Given the description of an element on the screen output the (x, y) to click on. 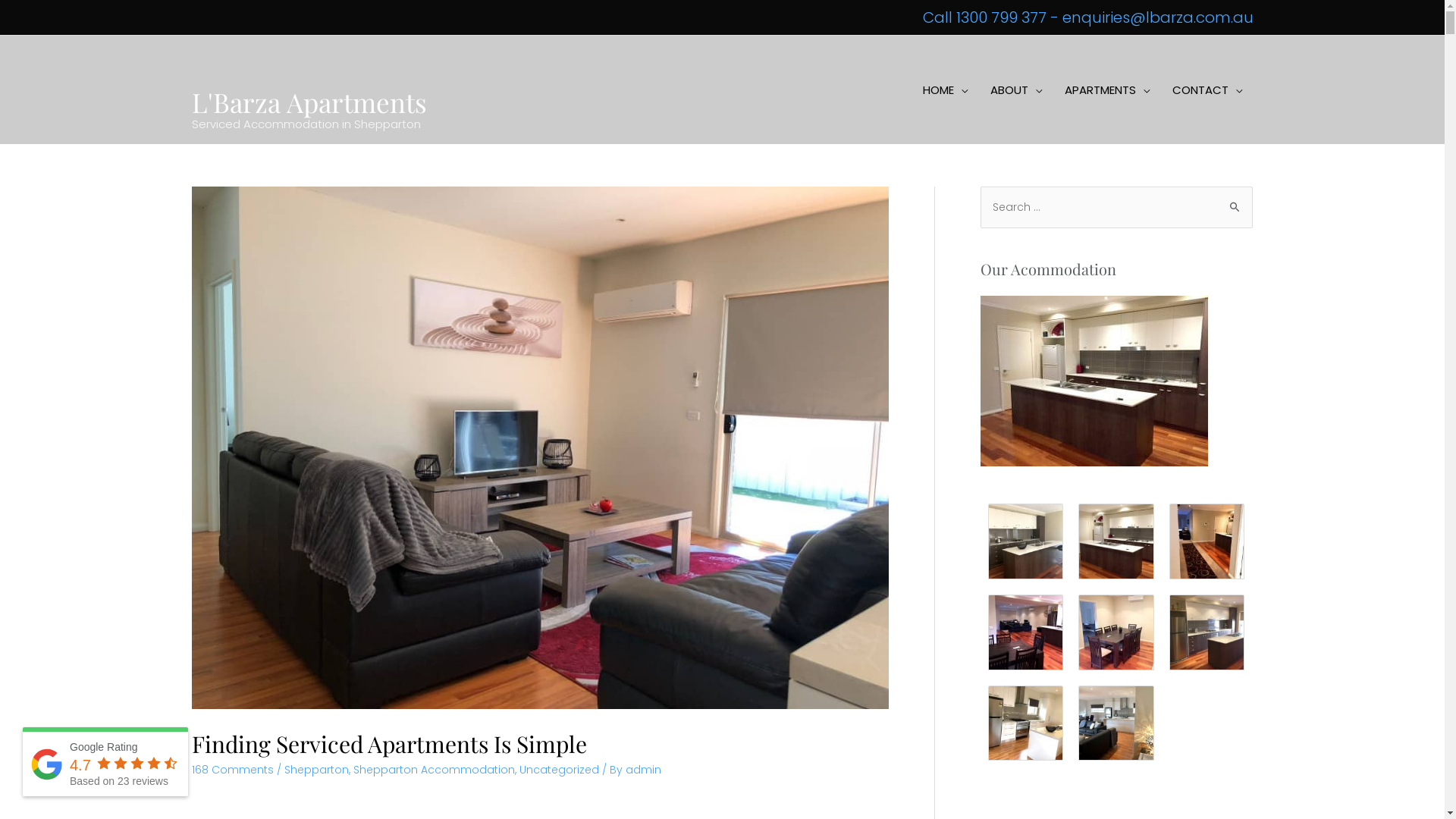
Shepparton Accommodation Element type: text (433, 769)
CONTACT Element type: text (1206, 89)
Uncategorized Element type: text (558, 769)
admin Element type: text (642, 769)
HOME Element type: text (945, 89)
L'Barza Apartments Element type: text (308, 101)
APARTMENTS Element type: text (1106, 89)
Shepparton Element type: text (315, 769)
enquiries@lbarza.com.au Element type: text (1156, 17)
Call 1300 799 377 Element type: text (983, 17)
Search Element type: text (1234, 205)
168 Comments Element type: text (232, 769)
ABOUT Element type: text (1015, 89)
